Given the description of an element on the screen output the (x, y) to click on. 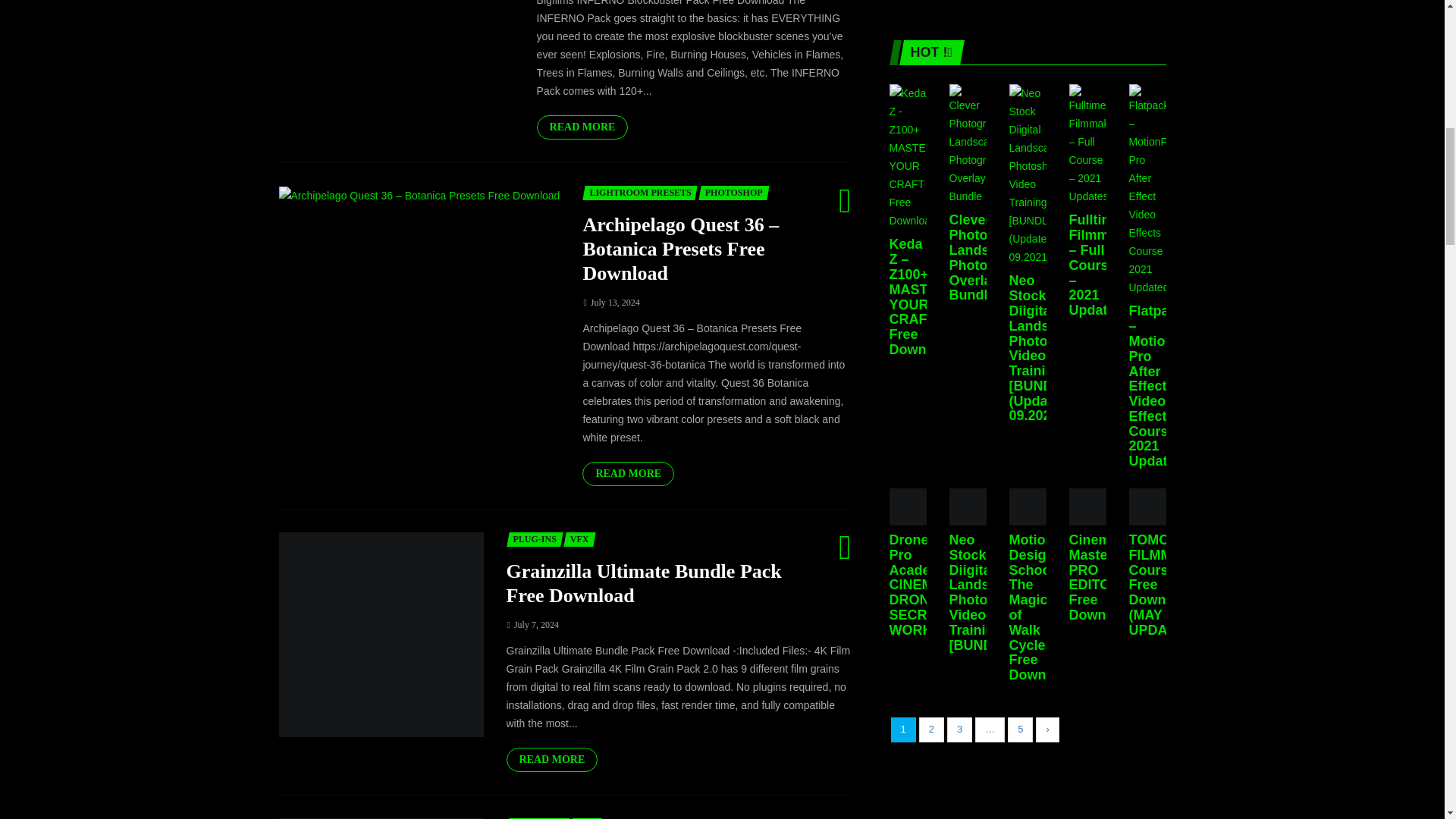
Search (727, 408)
